Given the description of an element on the screen output the (x, y) to click on. 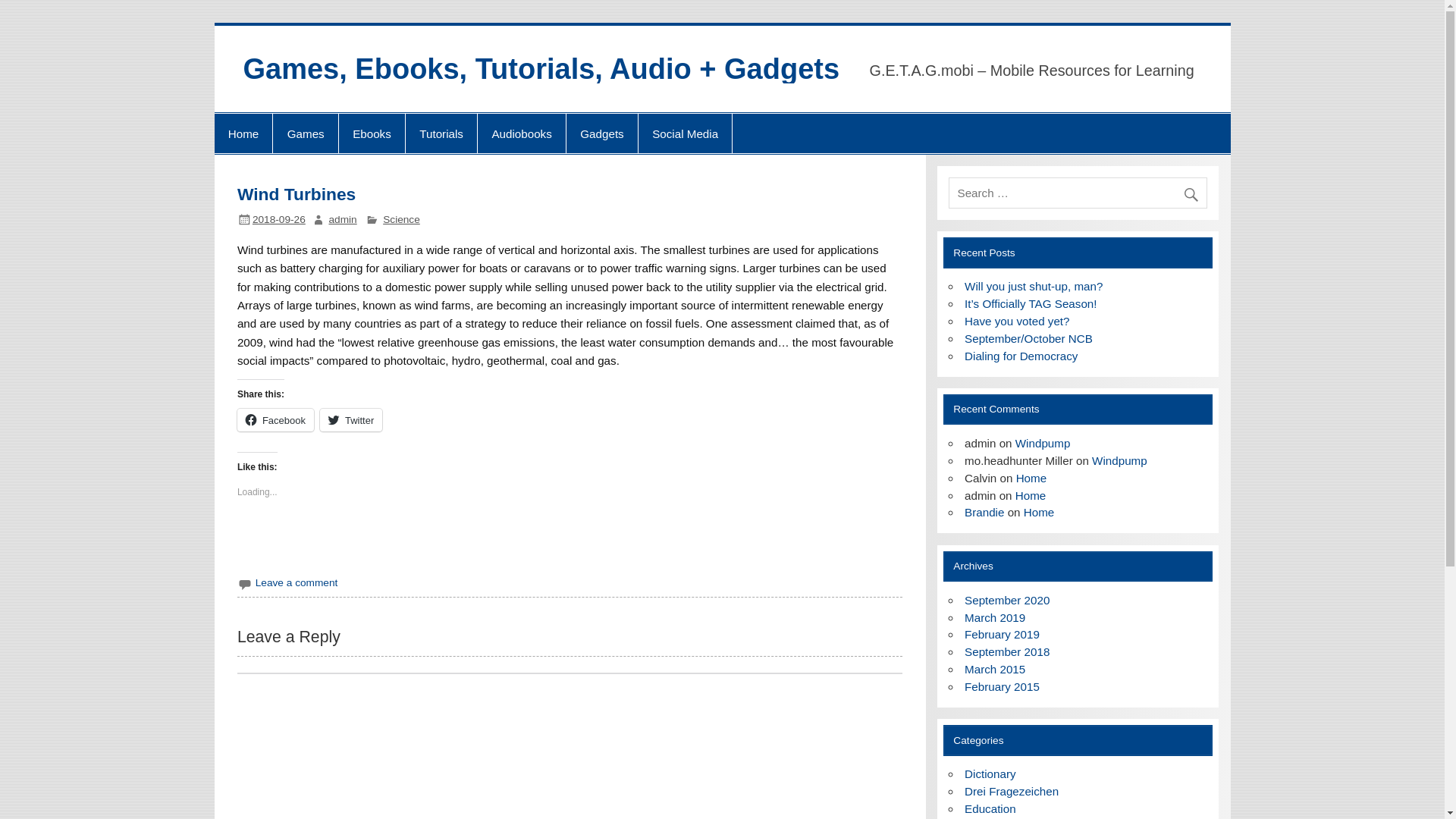
Ebooks (371, 133)
Audiobooks (521, 133)
2018-09-26 (278, 219)
Dialing for Democracy (1020, 355)
Have you voted yet? (1015, 320)
Click to share on Facebook (275, 419)
21:11 (278, 219)
Like or Reblog (569, 544)
Leave a comment (296, 582)
Social Media (685, 133)
